Given the description of an element on the screen output the (x, y) to click on. 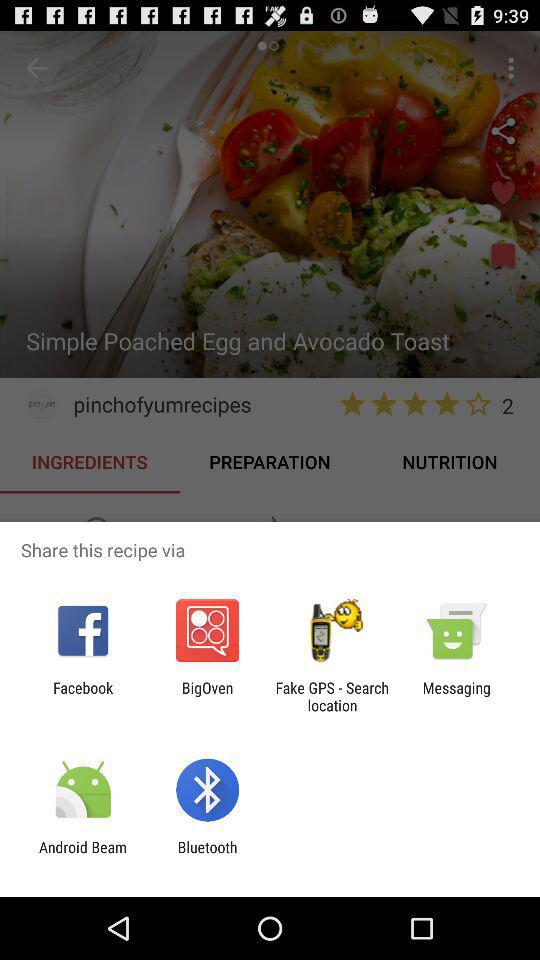
flip until the bluetooth icon (207, 856)
